Given the description of an element on the screen output the (x, y) to click on. 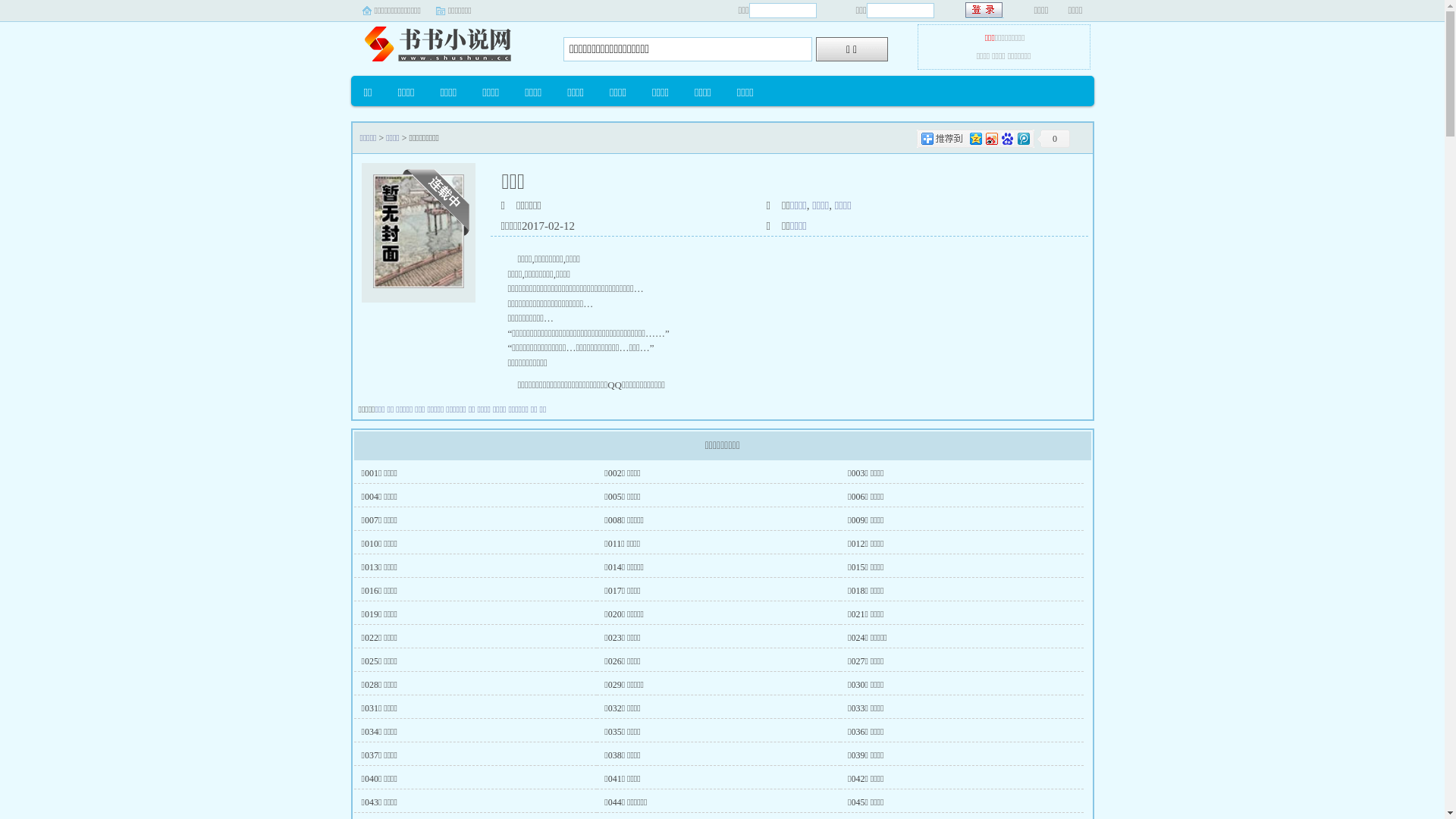
0 Element type: text (1052, 138)
  Element type: text (983, 10)
